Given the description of an element on the screen output the (x, y) to click on. 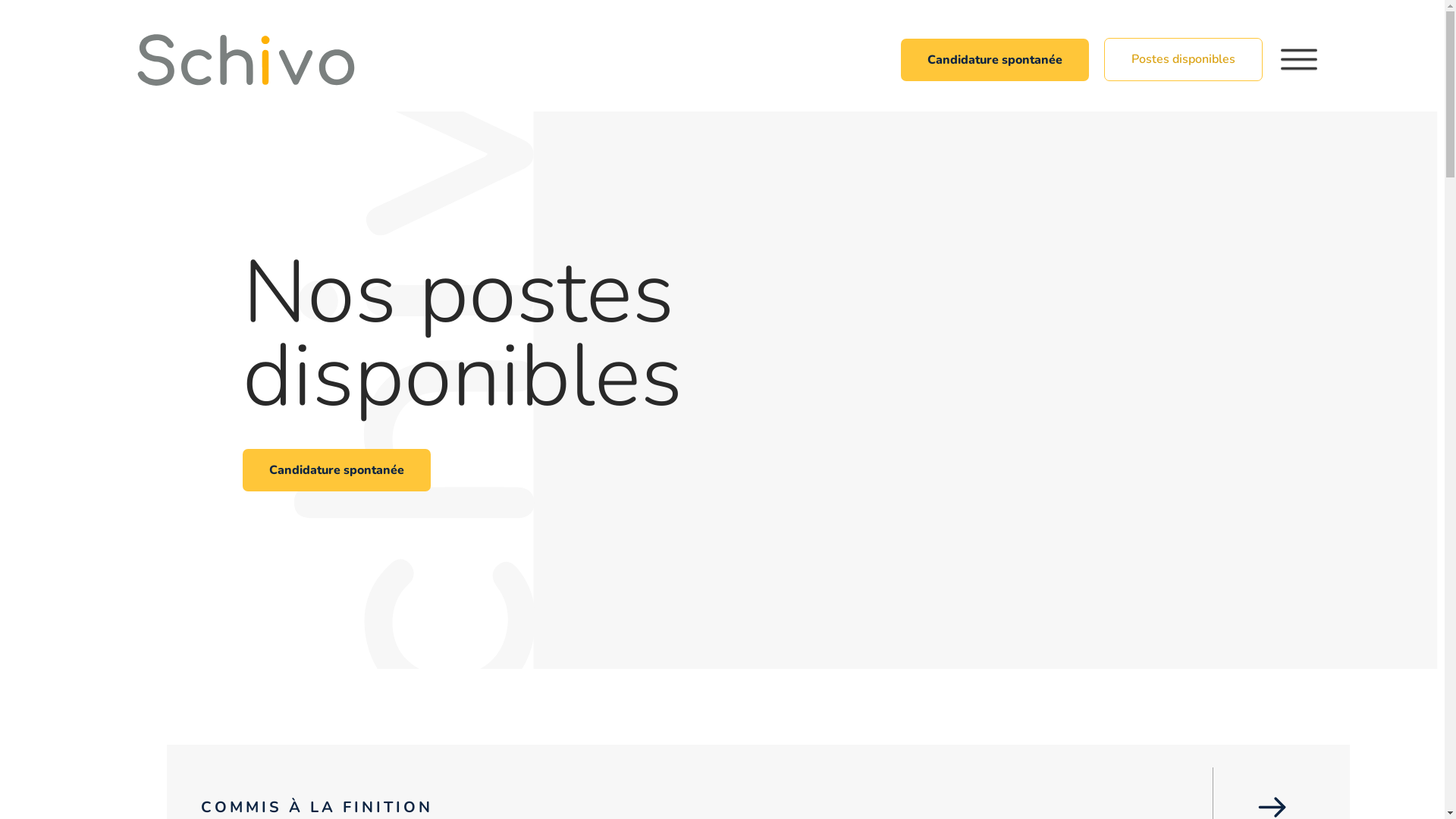
Postes disponibles Element type: text (1183, 59)
